Given the description of an element on the screen output the (x, y) to click on. 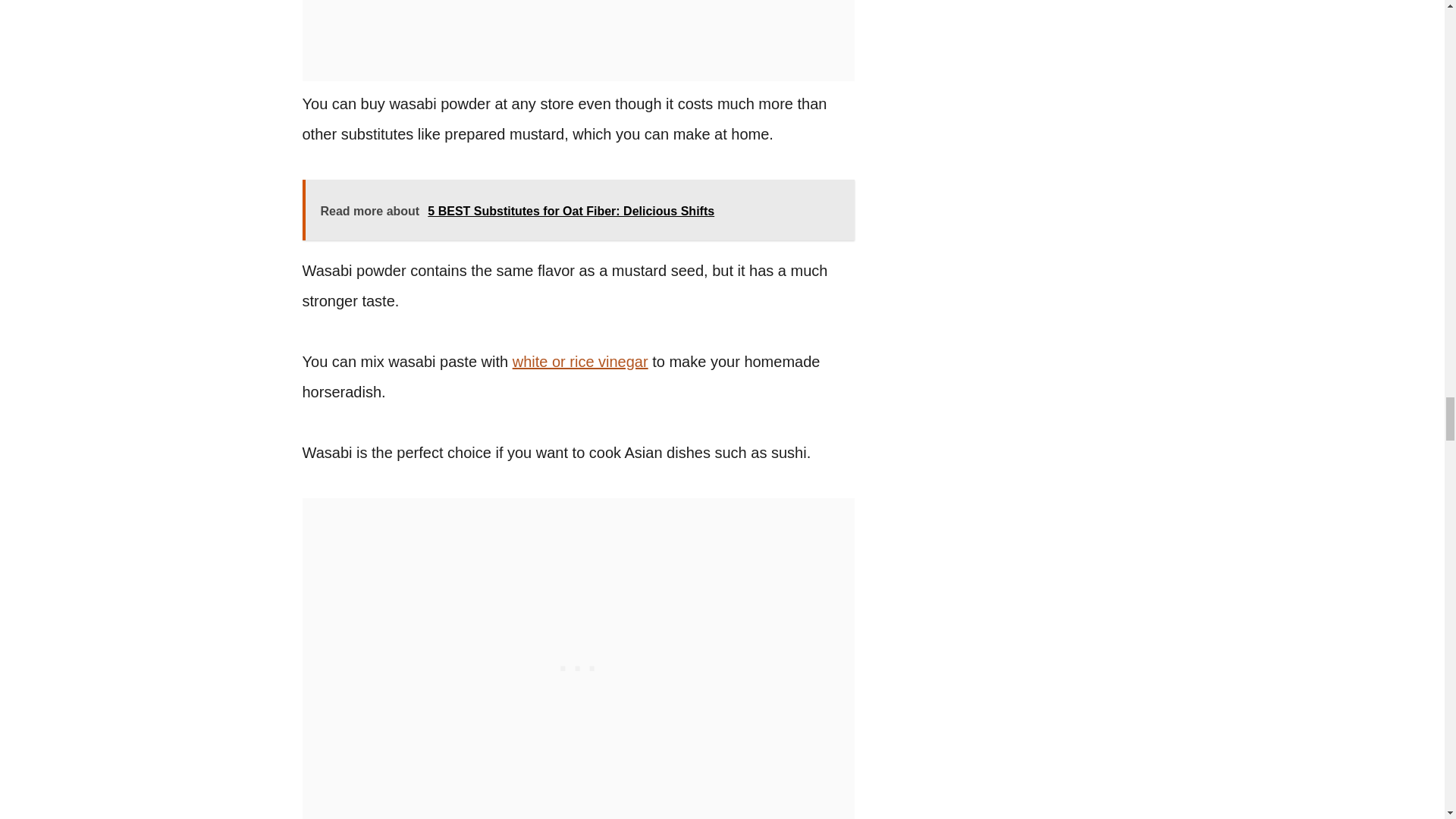
white or rice vinegar (579, 361)
